Given the description of an element on the screen output the (x, y) to click on. 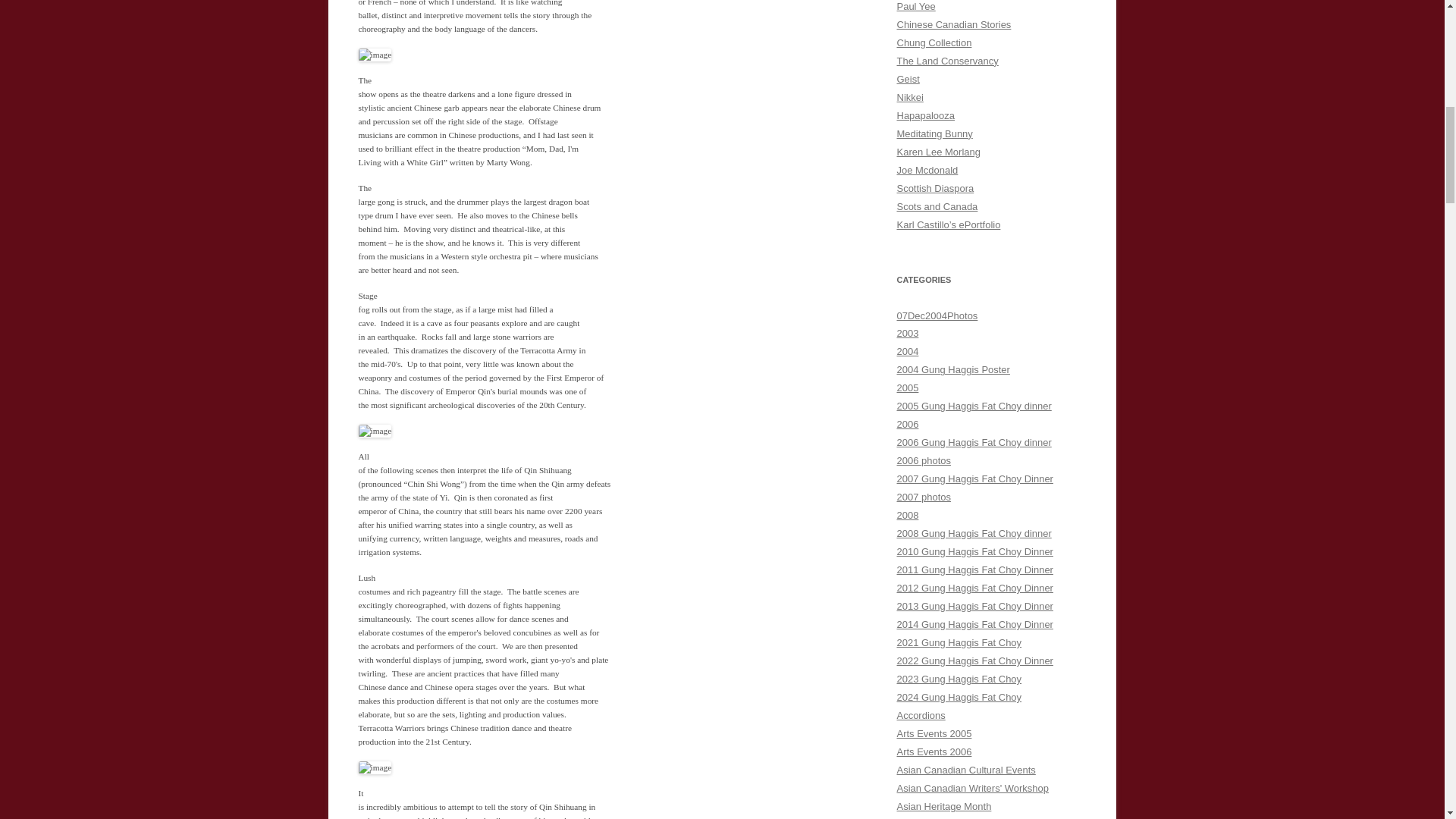
The Land Conservancy (946, 60)
Paul Yee (915, 6)
Geist (907, 79)
Chung Collection (933, 42)
Nikkei (909, 97)
Chinese Canadian Stories (953, 24)
